Given the description of an element on the screen output the (x, y) to click on. 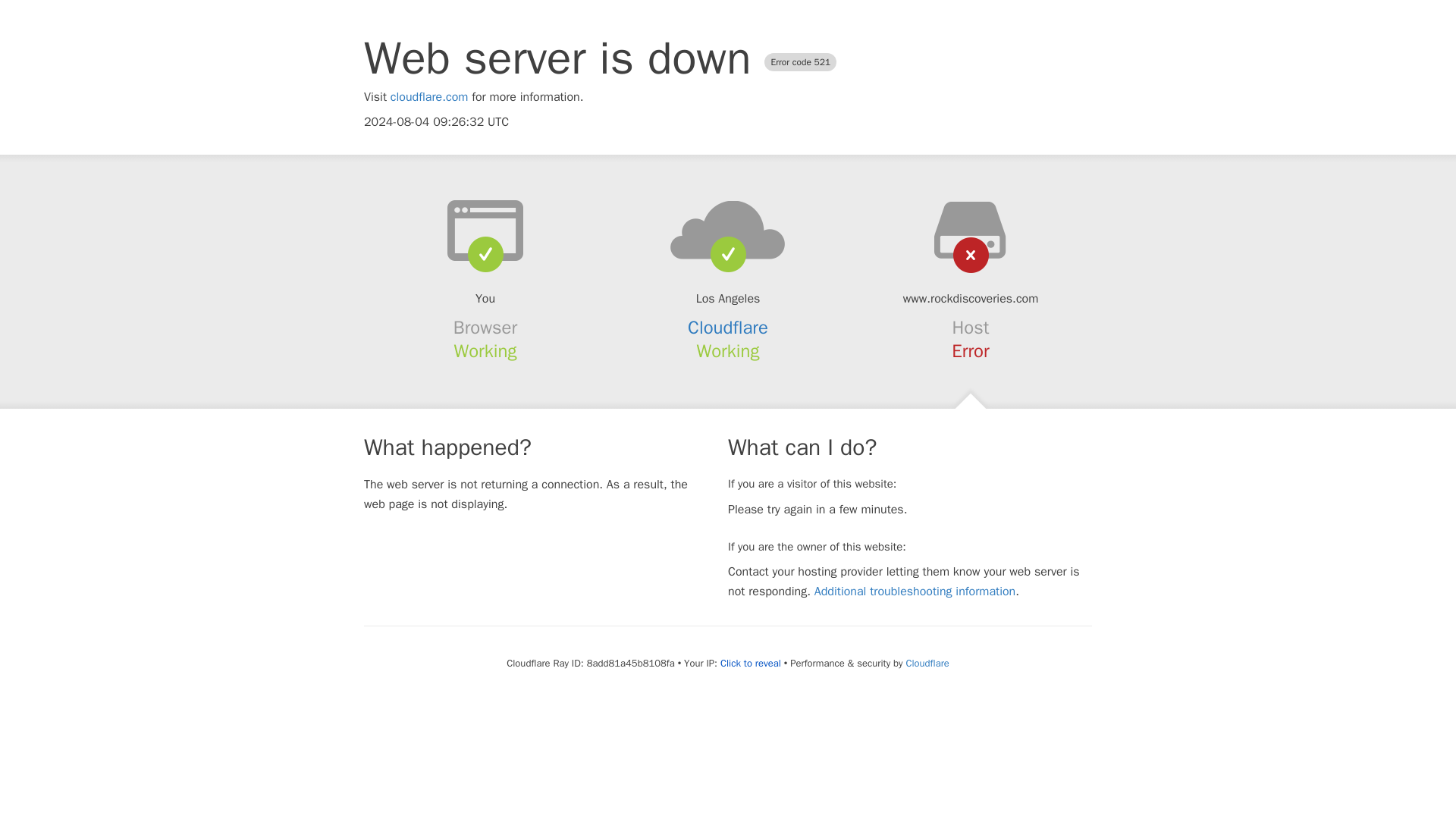
Cloudflare (727, 327)
cloudflare.com (429, 96)
Additional troubleshooting information (913, 590)
Click to reveal (750, 663)
Cloudflare (927, 662)
